Given the description of an element on the screen output the (x, y) to click on. 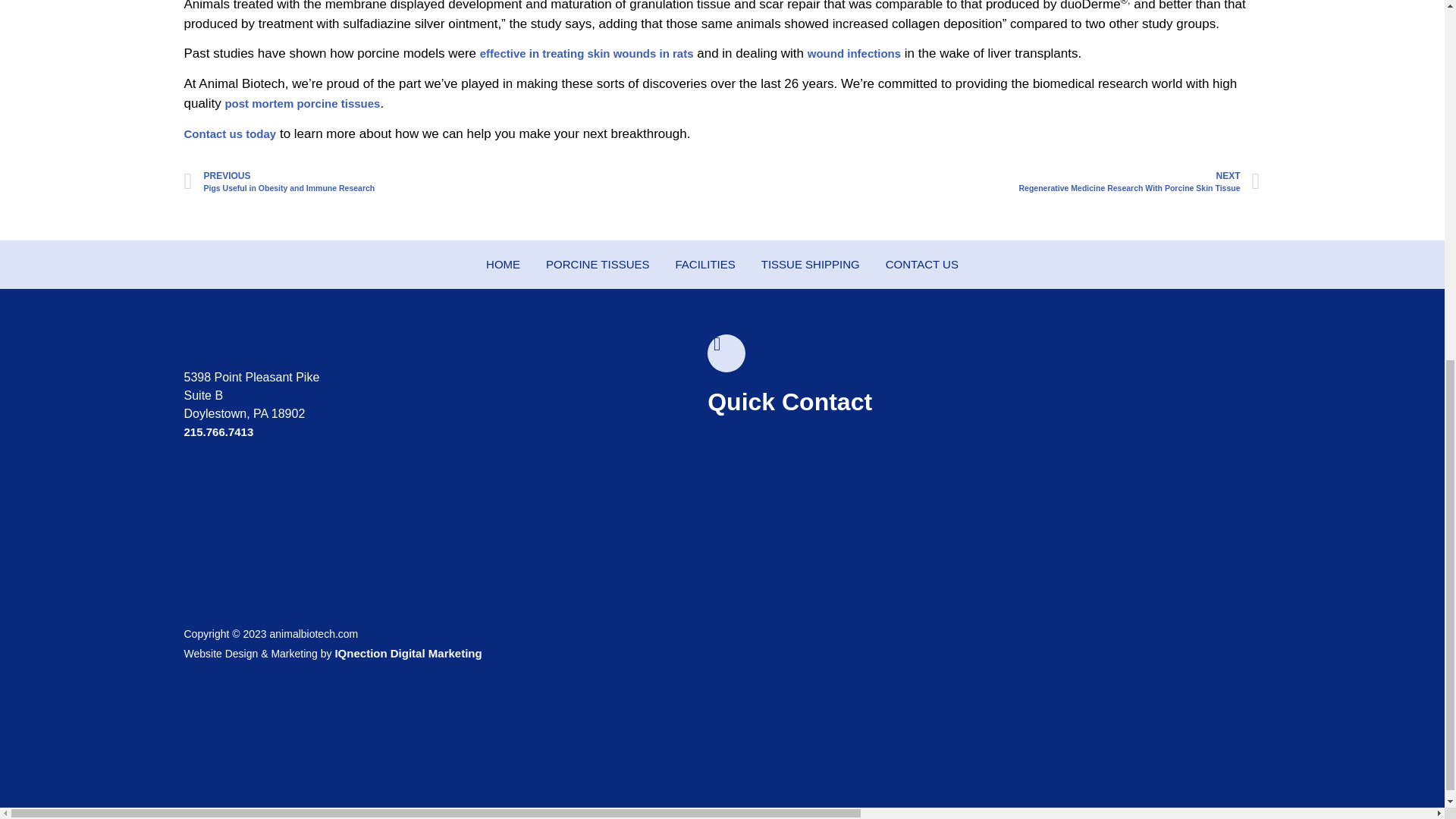
PORCINE TISSUES (597, 264)
effective in treating skin wounds in rats (587, 52)
FACILITIES (705, 264)
wound infections (991, 181)
HOME (854, 52)
post mortem porcine tissues (502, 264)
Contact us today (302, 103)
